Given the description of an element on the screen output the (x, y) to click on. 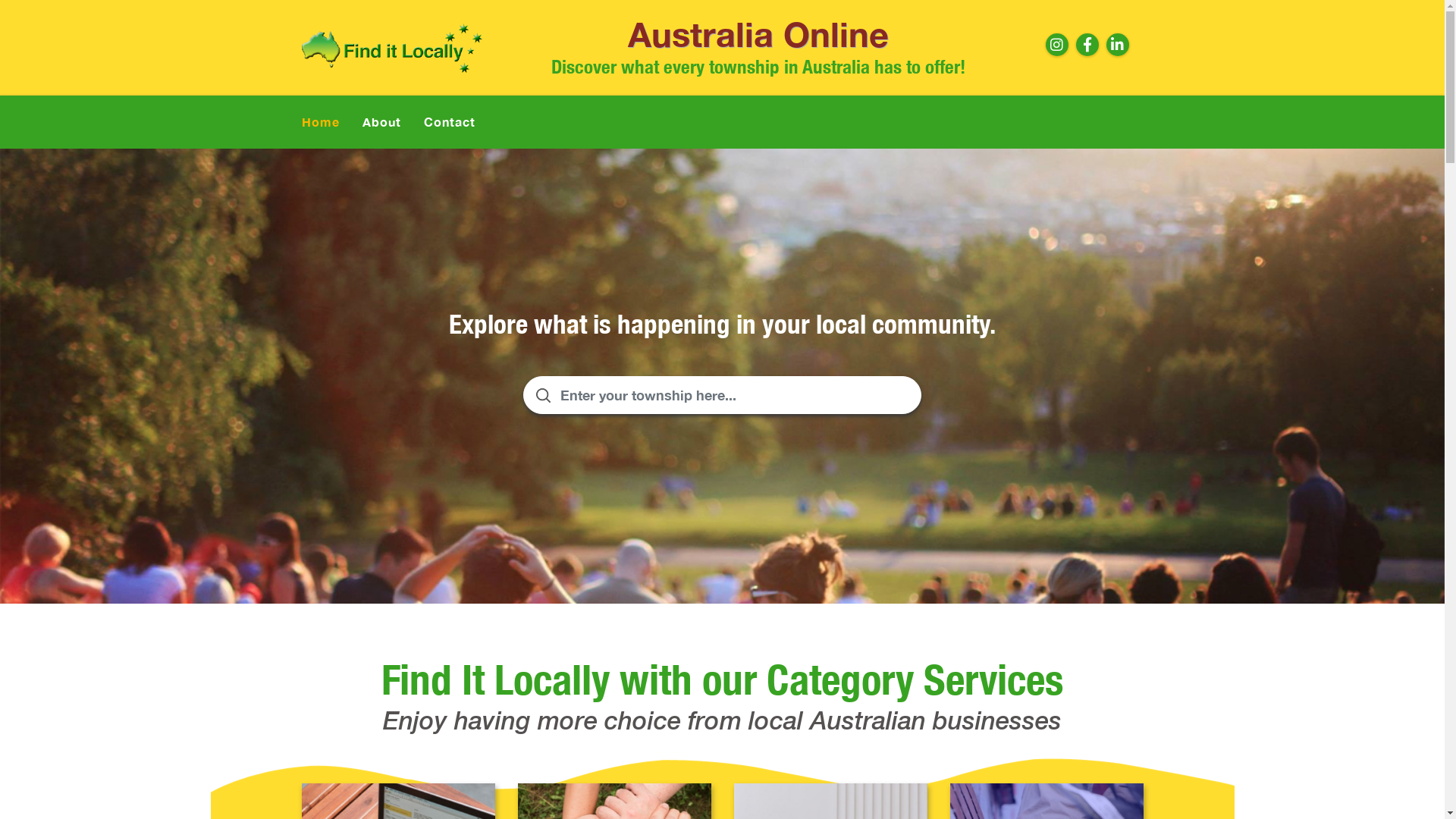
Home Element type: text (320, 121)
Instagram Element type: hover (1056, 44)
Linkdin Element type: hover (1117, 44)
Facebook Element type: hover (1087, 44)
Contact Element type: text (448, 121)
About Element type: text (381, 121)
